Given the description of an element on the screen output the (x, y) to click on. 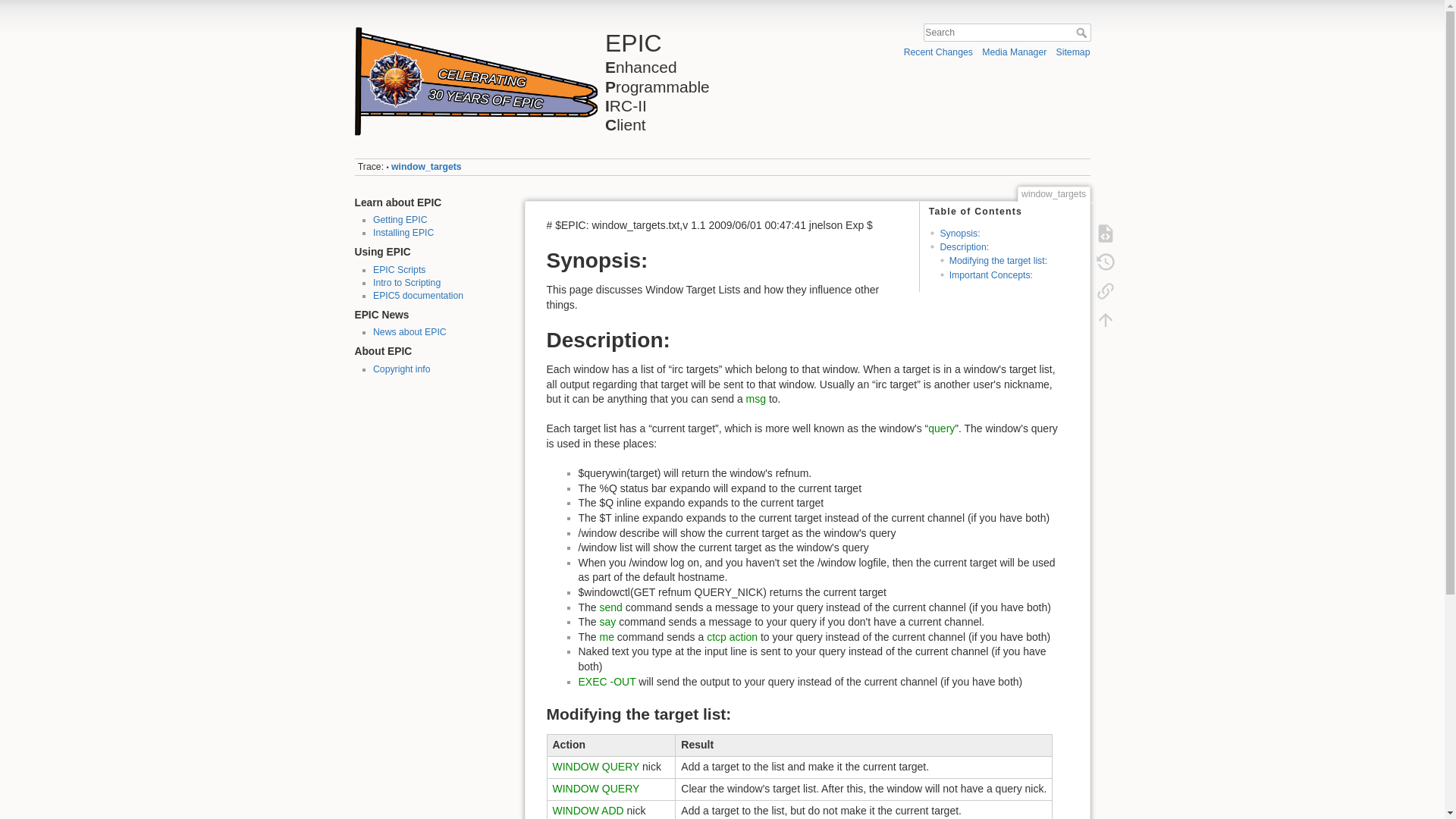
me (606, 636)
Copyright info (401, 368)
Media Manager (1013, 51)
scripts (398, 269)
WINDOW QUERY (595, 788)
EPIC Scripts (398, 269)
Recent Changes (938, 51)
Intro to Scripting (406, 282)
send (611, 607)
Search (1082, 32)
